Given the description of an element on the screen output the (x, y) to click on. 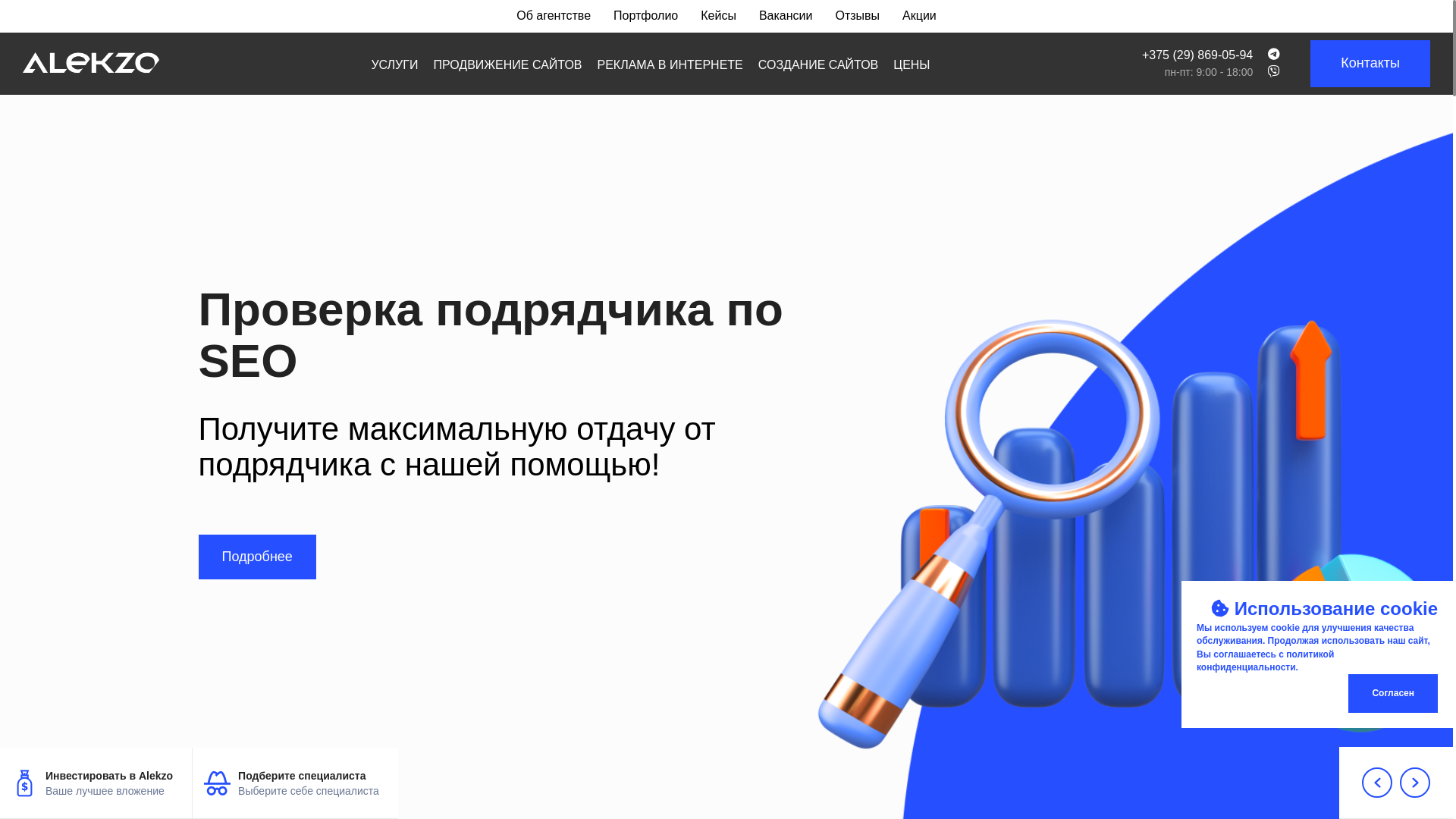
+375 (29) 869-05-94 Element type: text (1197, 55)
